Given the description of an element on the screen output the (x, y) to click on. 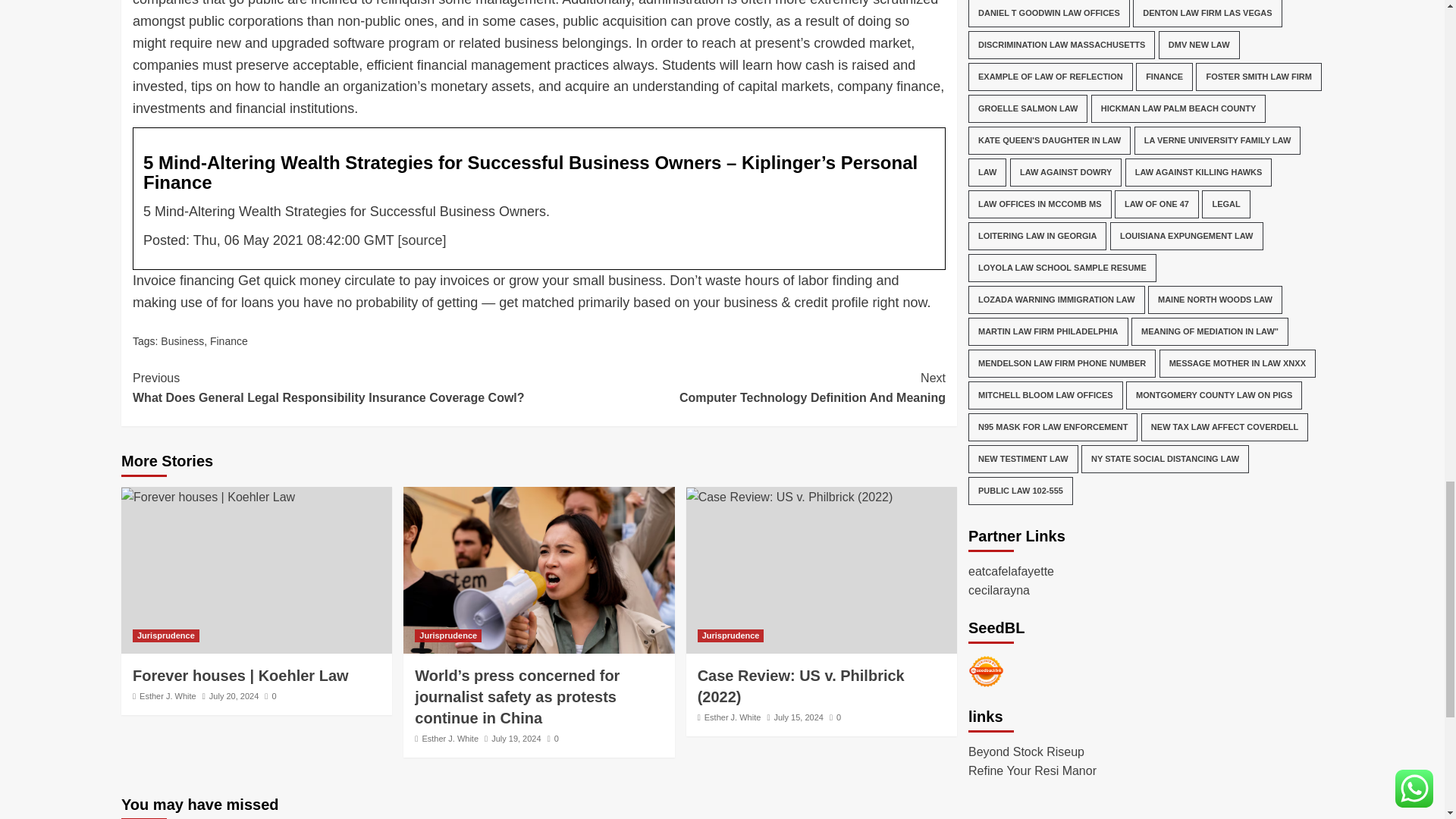
Jurisprudence (165, 635)
Esther J. White (167, 696)
source (421, 240)
Business (181, 340)
Finance (741, 387)
July 20, 2024 (228, 340)
